Given the description of an element on the screen output the (x, y) to click on. 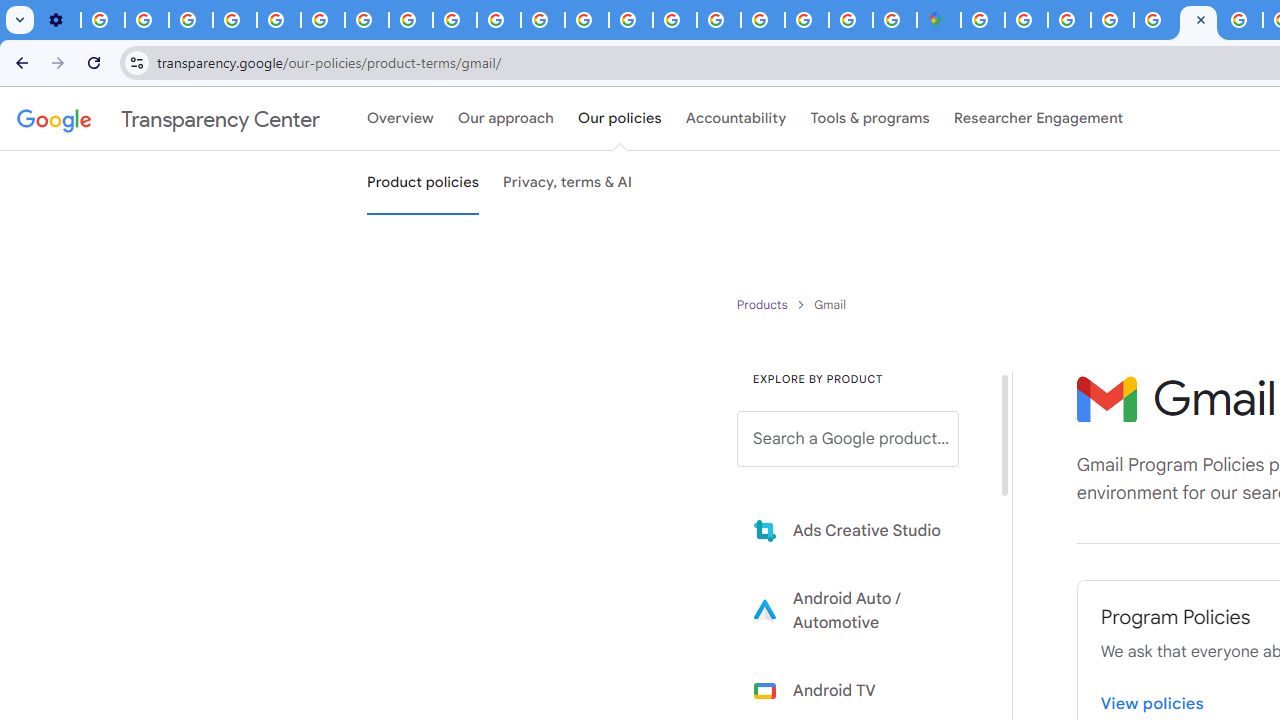
Transparency Center (167, 119)
Search a Google product from below list. (847, 439)
Google Account Help (234, 20)
Gmail Policies and Guidelines - Transparency Center (1197, 20)
Learn how to find your photos - Google Photos Help (146, 20)
Terms and Conditions (1155, 20)
Learn more about Ads Creative Studio (862, 530)
